Given the description of an element on the screen output the (x, y) to click on. 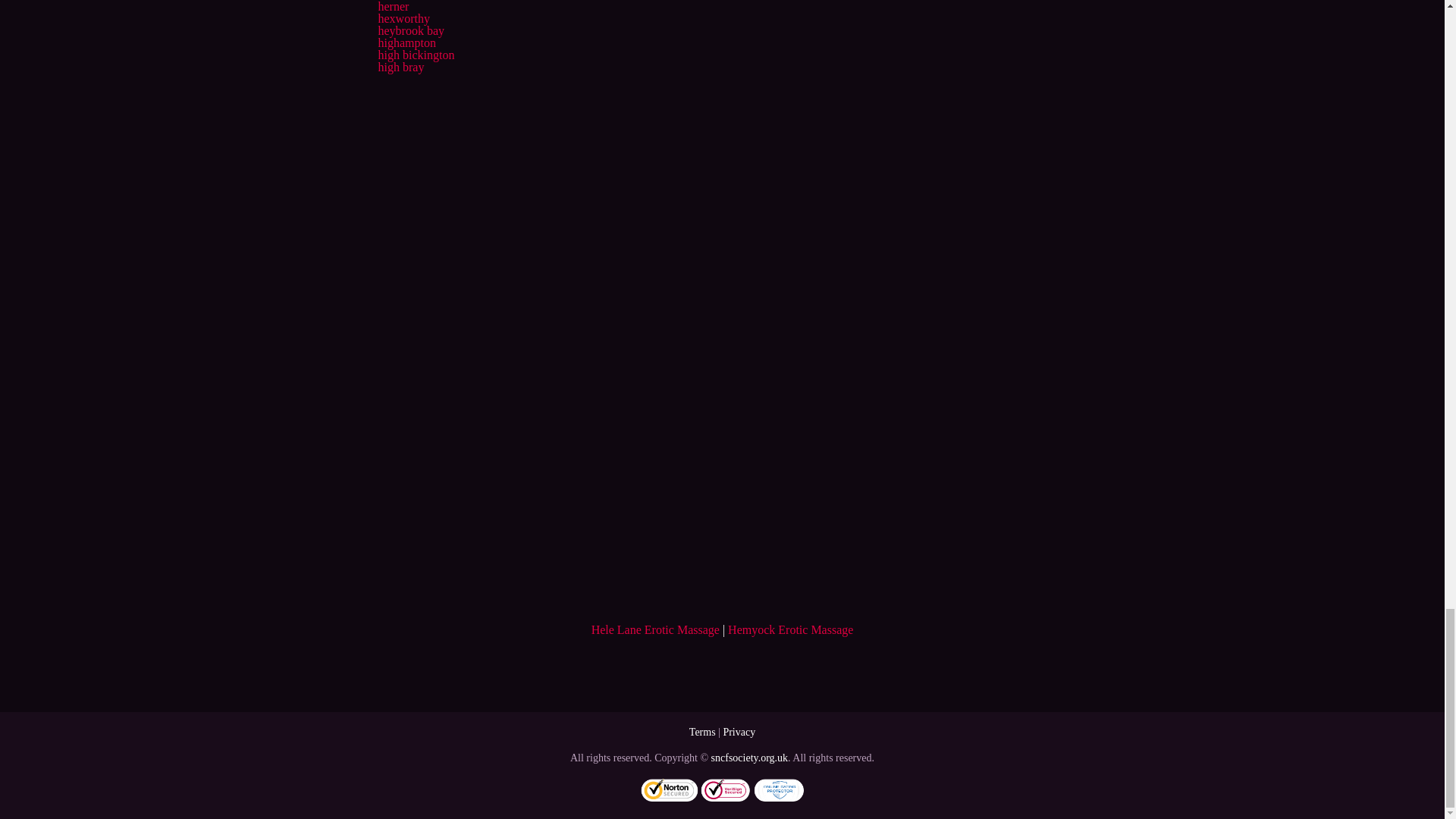
hennock (398, 0)
Terms (702, 731)
Privacy (738, 731)
high bray (400, 66)
Terms (702, 731)
hexworthy (403, 18)
heybrook bay (410, 30)
Privacy (738, 731)
highampton (406, 42)
Hele Lane Erotic Massage (655, 629)
Hemyock Erotic Massage (790, 629)
herner (393, 6)
sncfsociety.org.uk (749, 757)
high bickington (415, 54)
